Given the description of an element on the screen output the (x, y) to click on. 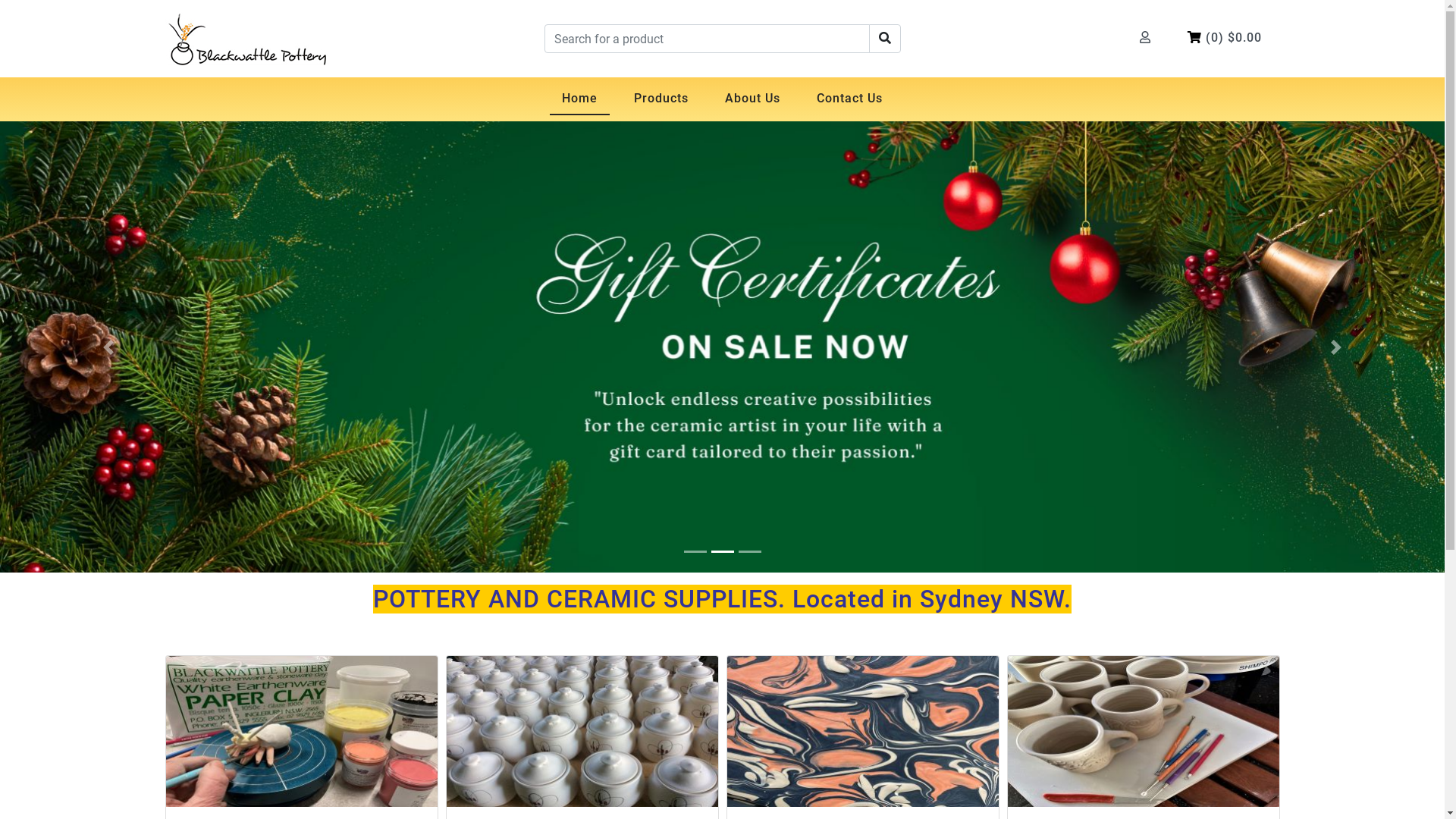
Blackwattle Pottery Home Element type: hover (246, 38)
Home Element type: text (579, 99)
Go Element type: text (884, 38)
Previous Element type: text (108, 346)
(0) $0.00 Element type: text (1224, 38)
Search Products Element type: hover (884, 38)
About Us Element type: text (752, 99)
Products Element type: text (660, 99)
Contact Us Element type: text (849, 99)
Next Element type: text (1335, 346)
